Given the description of an element on the screen output the (x, y) to click on. 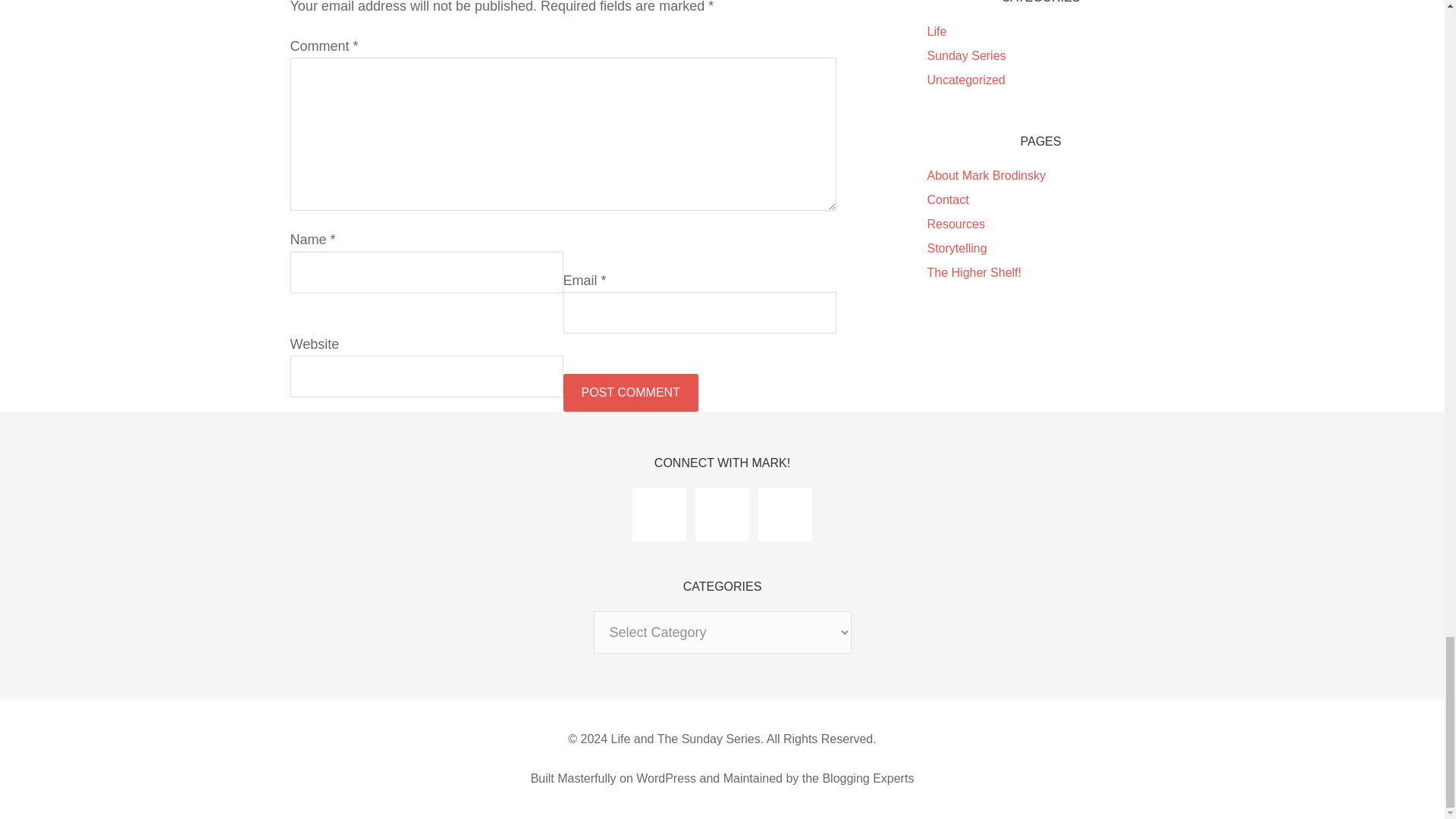
Uncategorized (965, 79)
Post Comment (629, 392)
Contact (947, 199)
Sunday Series (966, 55)
Post Comment (629, 392)
Life (936, 31)
About Mark Brodinsky (985, 174)
